Given the description of an element on the screen output the (x, y) to click on. 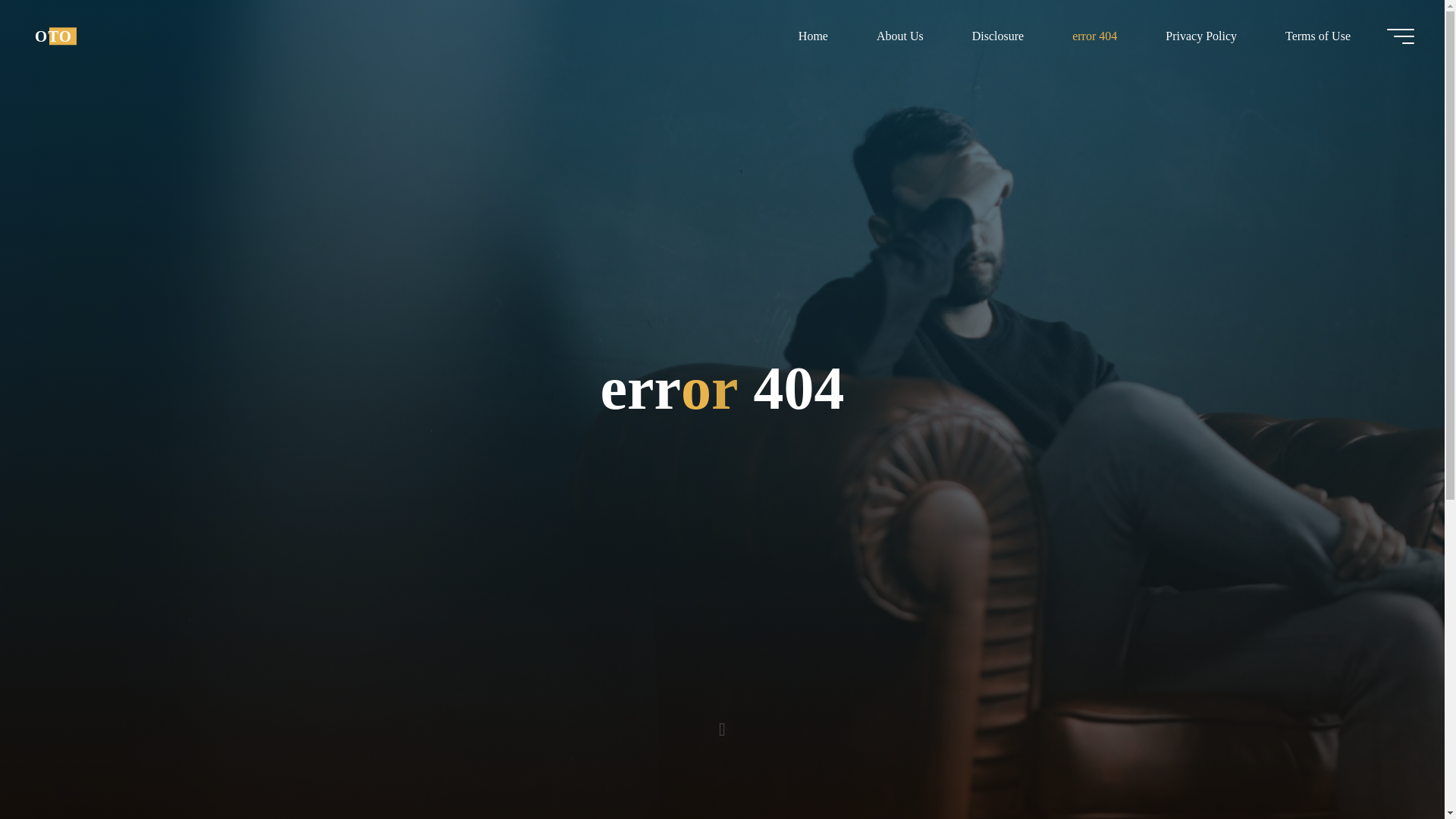
Read more (721, 724)
OTO (53, 36)
About Us (899, 35)
error 404 (1094, 35)
Privacy Policy (1200, 35)
Terms of Use (1317, 35)
Home (812, 35)
Disclosure (997, 35)
